Given the description of an element on the screen output the (x, y) to click on. 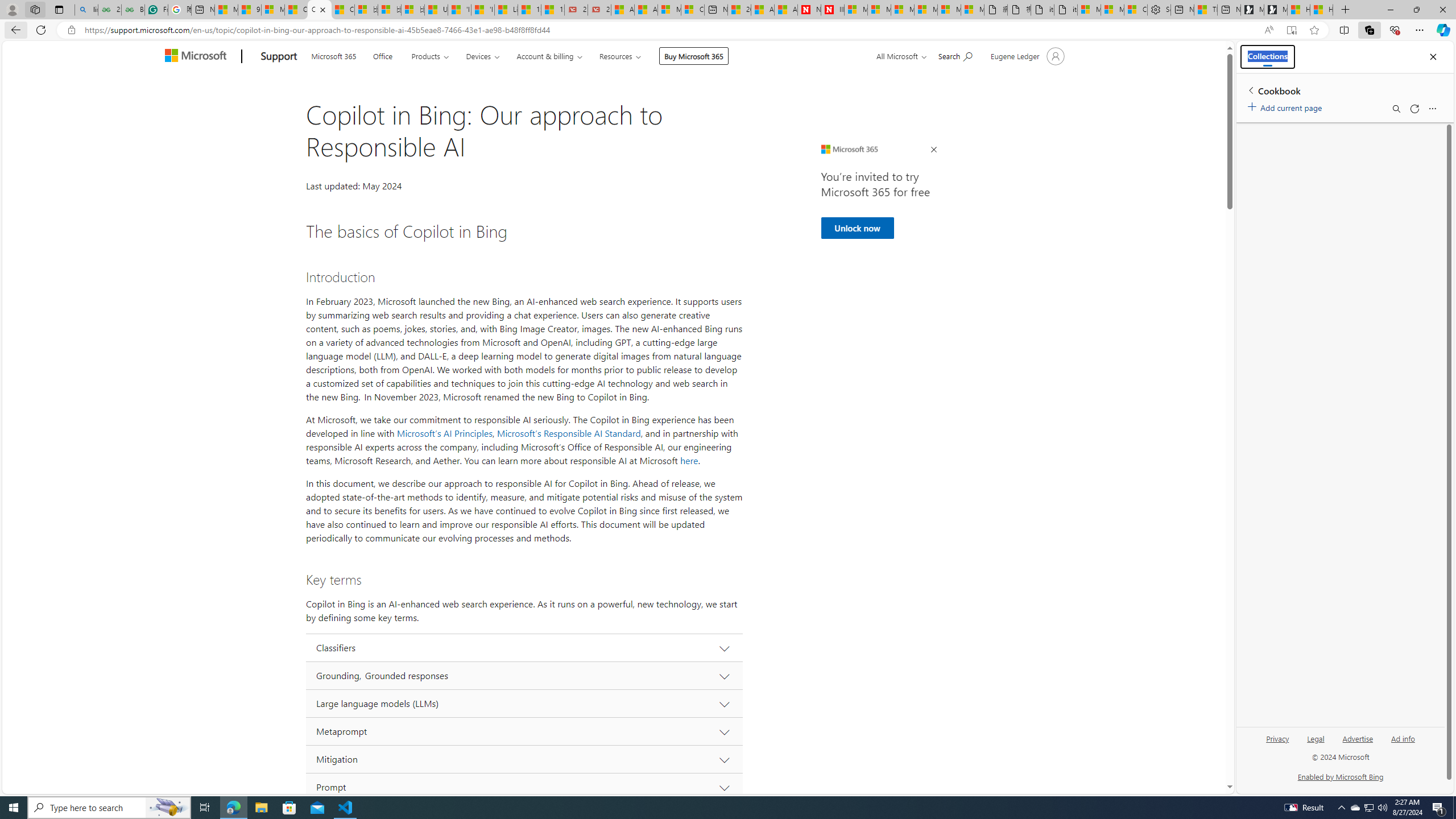
21 Movies That Outdid the Books They Were Based On (598, 9)
